Given the description of an element on the screen output the (x, y) to click on. 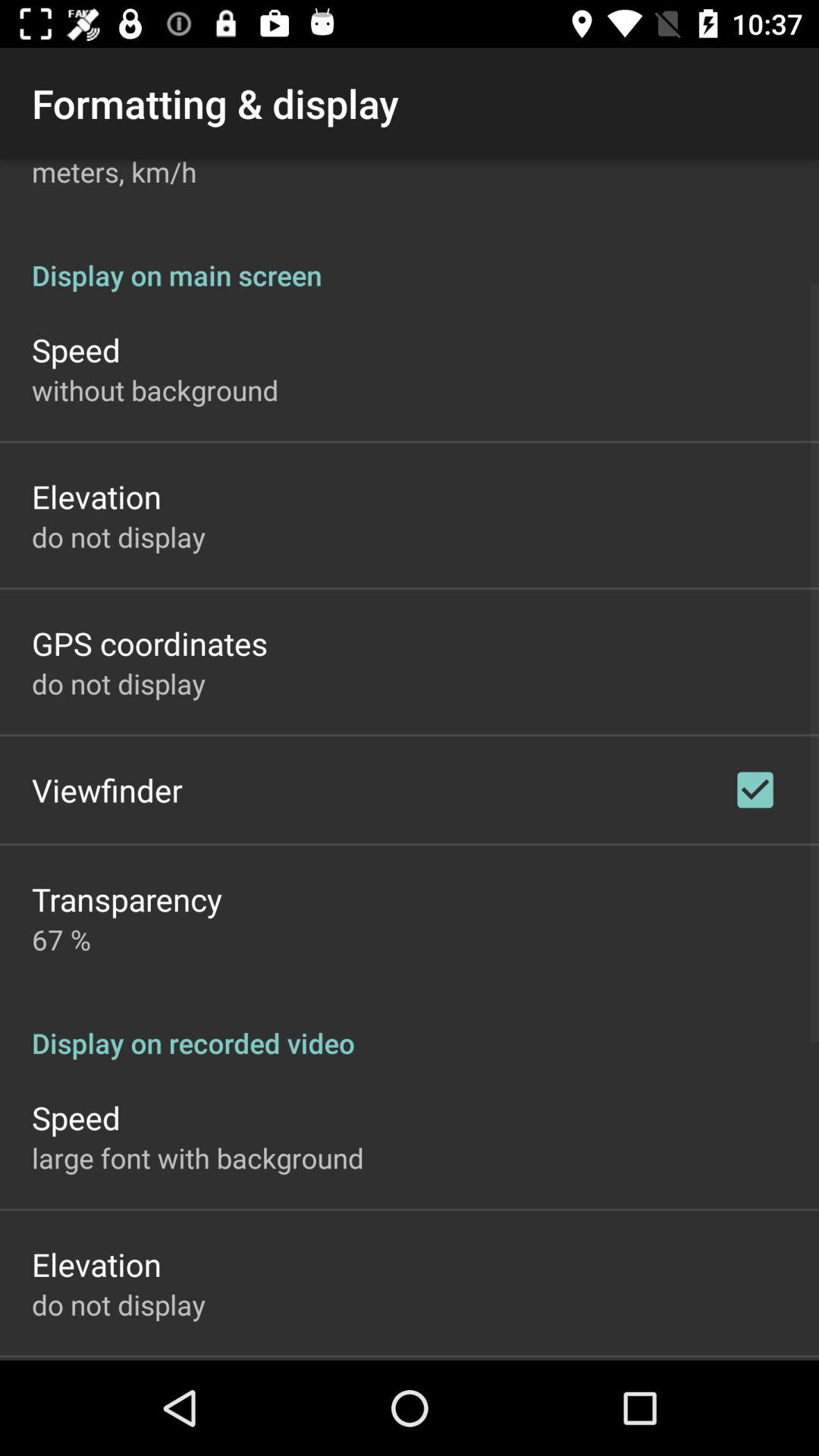
press app below do not display (149, 642)
